Given the description of an element on the screen output the (x, y) to click on. 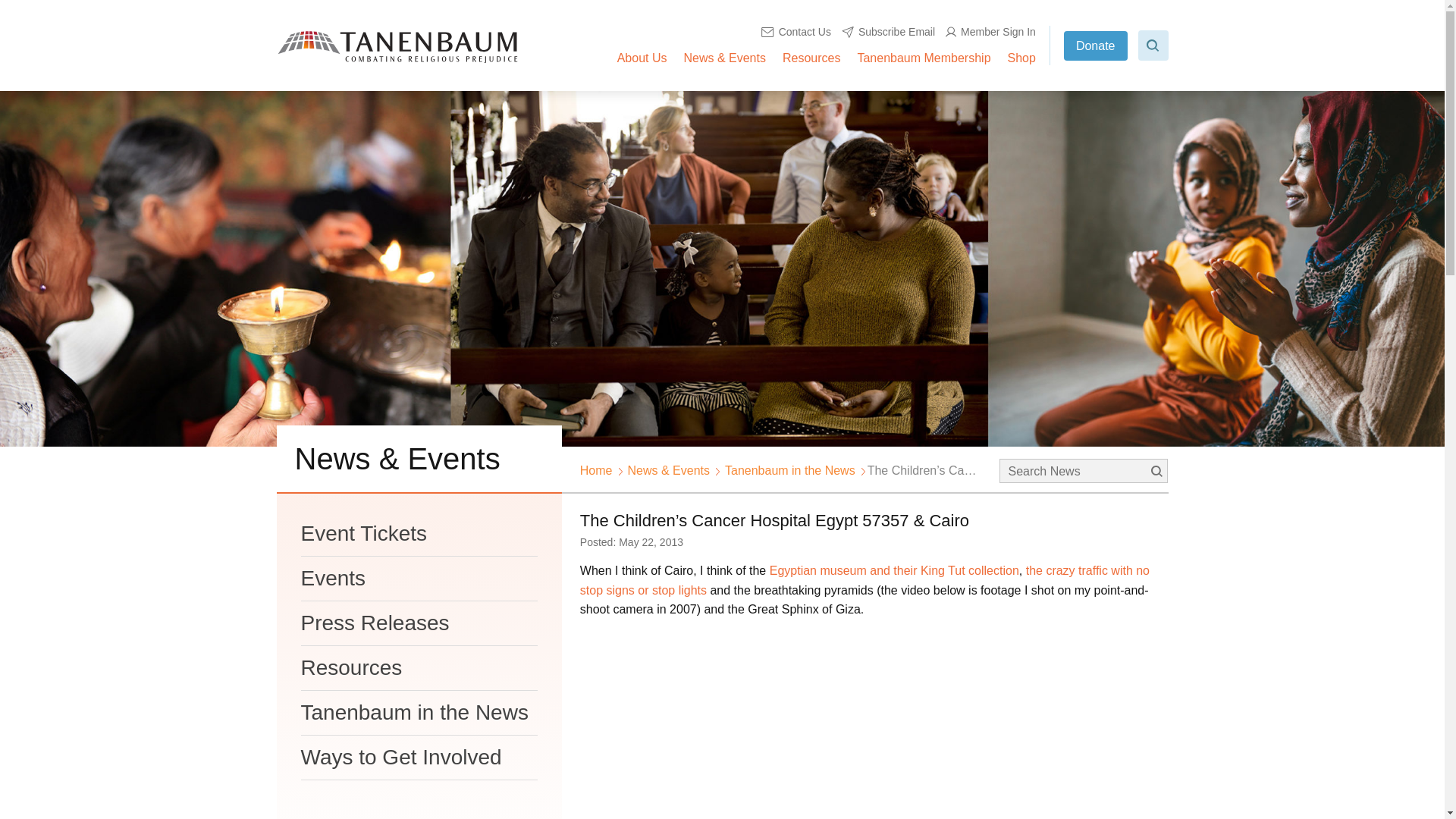
Contact Us (796, 31)
Member Sign In (989, 31)
Subscribe Email (887, 31)
Go to the Tanenbaum in the News category archives. (790, 470)
About Us (641, 58)
Go to Tanenbaum. (595, 470)
